Given the description of an element on the screen output the (x, y) to click on. 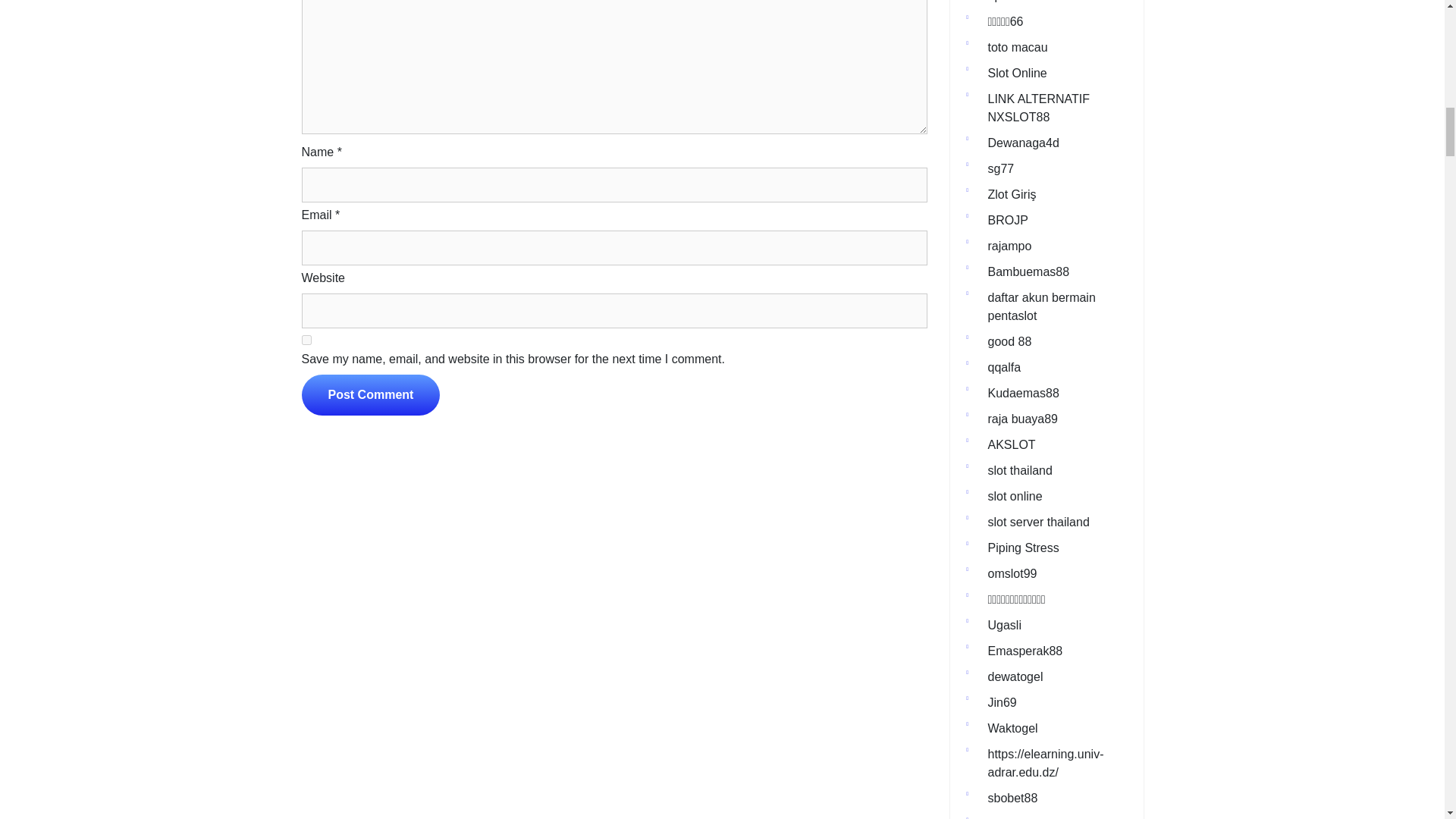
yes (306, 339)
Post Comment (371, 394)
Post Comment (371, 394)
